Given the description of an element on the screen output the (x, y) to click on. 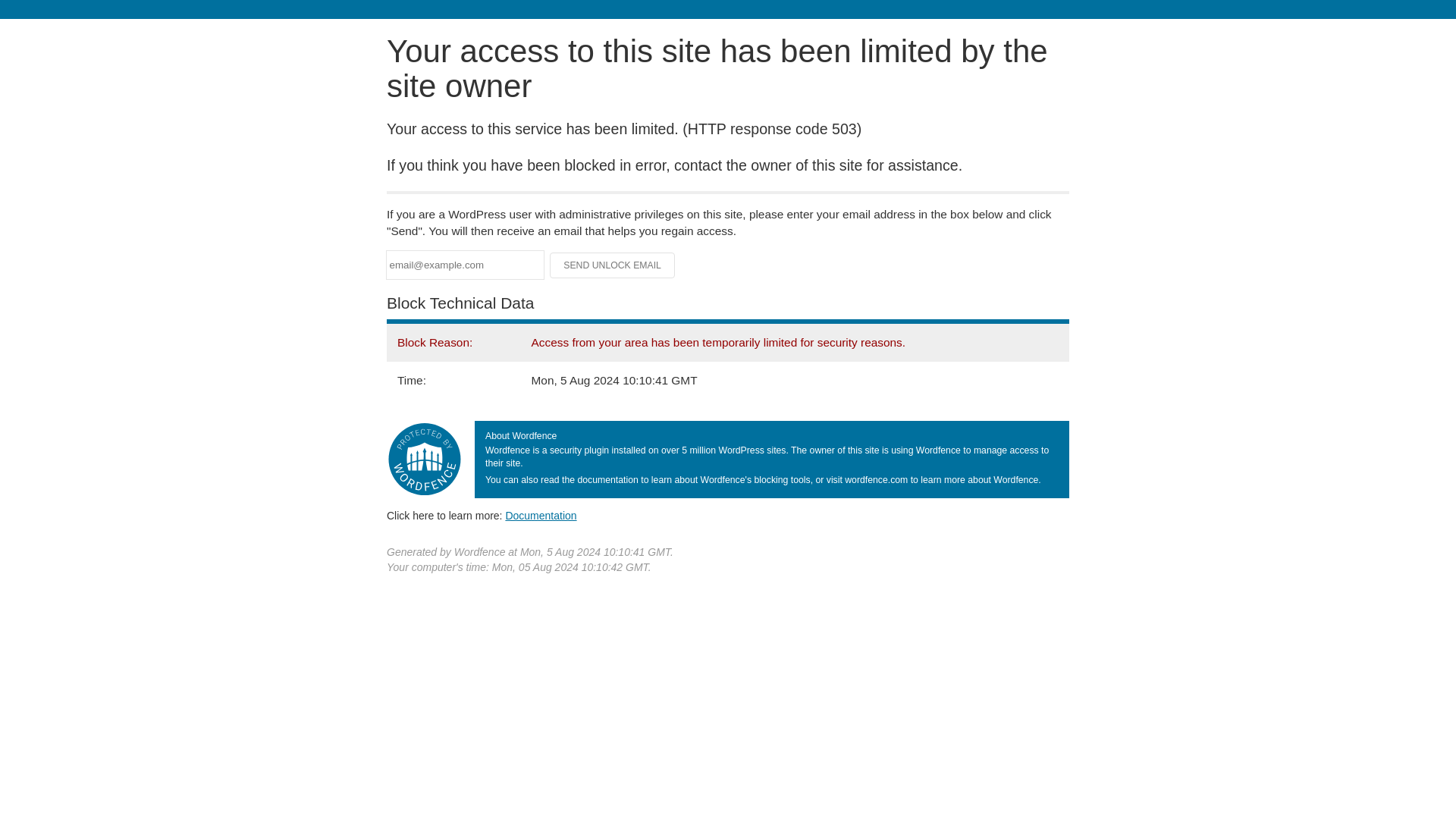
Send Unlock Email (612, 265)
Documentation (540, 515)
Send Unlock Email (612, 265)
